Given the description of an element on the screen output the (x, y) to click on. 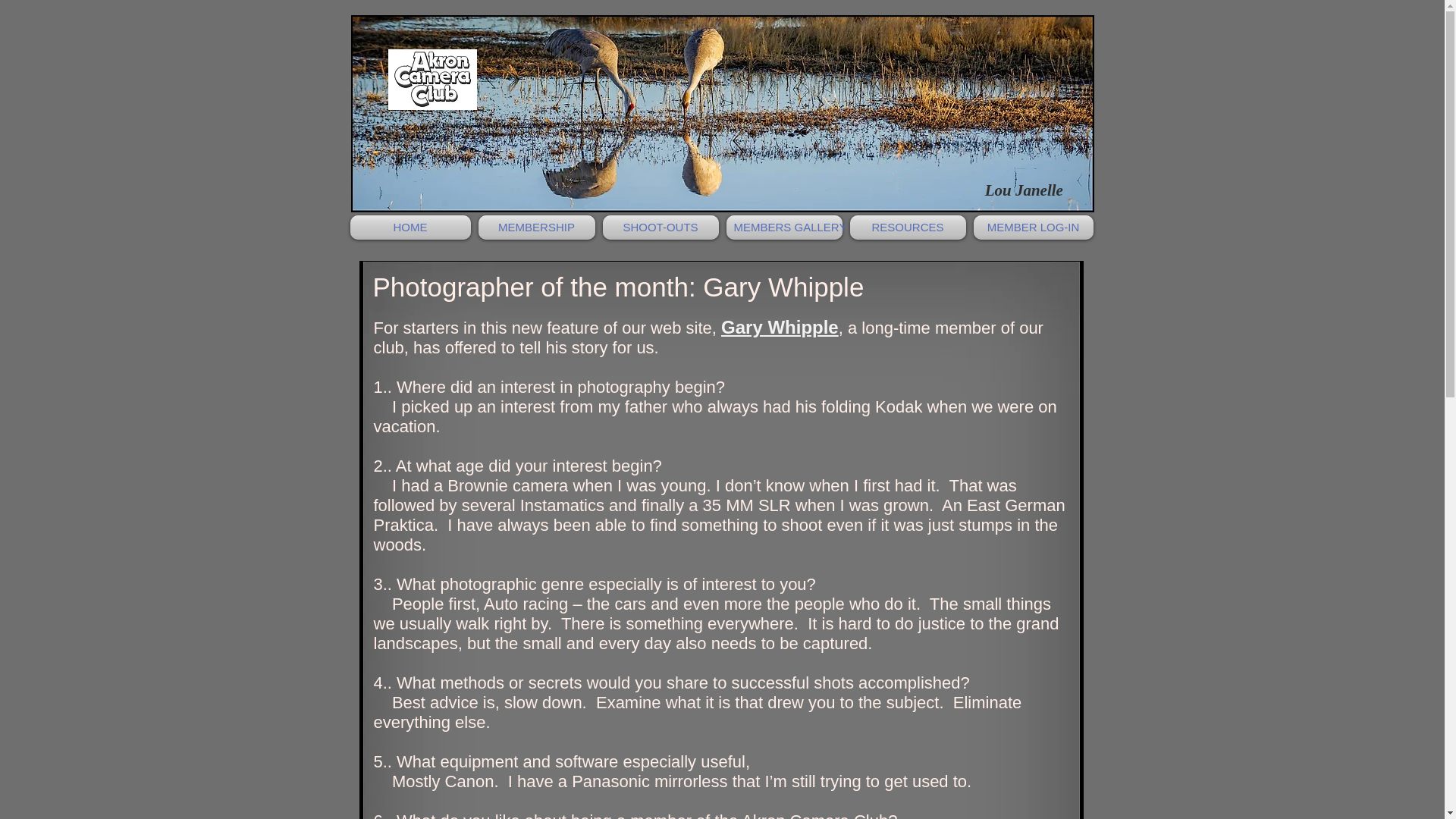
RESOURCES (907, 227)
SHOOT-OUTS (660, 227)
HOME (412, 227)
MEMBERSHIP (536, 227)
MEMBERS GALLERY (783, 227)
MEMBER LOG-IN (1031, 227)
